Given the description of an element on the screen output the (x, y) to click on. 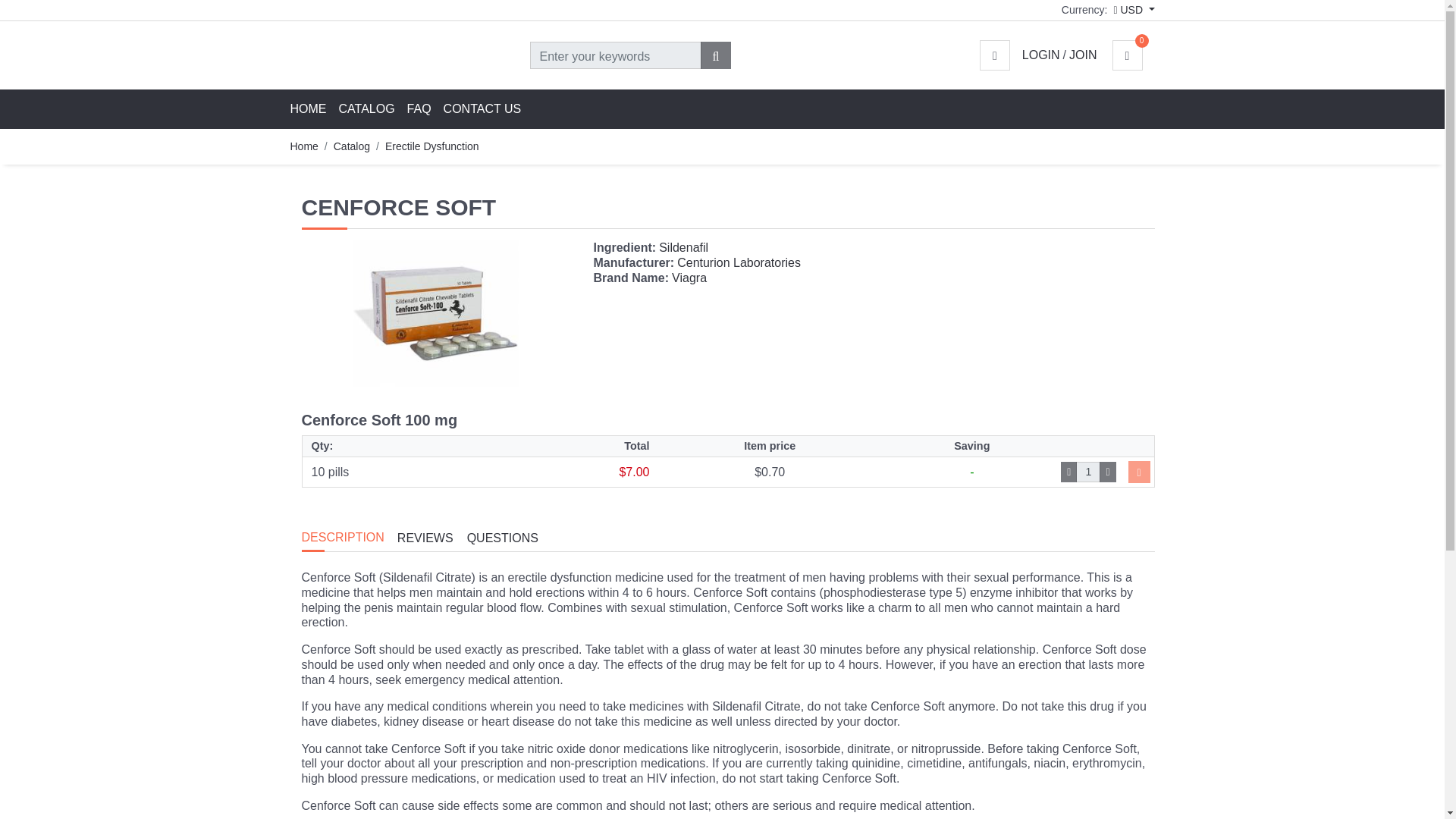
USD (1133, 9)
1 (1087, 472)
0 (1133, 55)
Add to cart (1139, 472)
JOIN (1082, 54)
LOGIN (1040, 54)
